Given the description of an element on the screen output the (x, y) to click on. 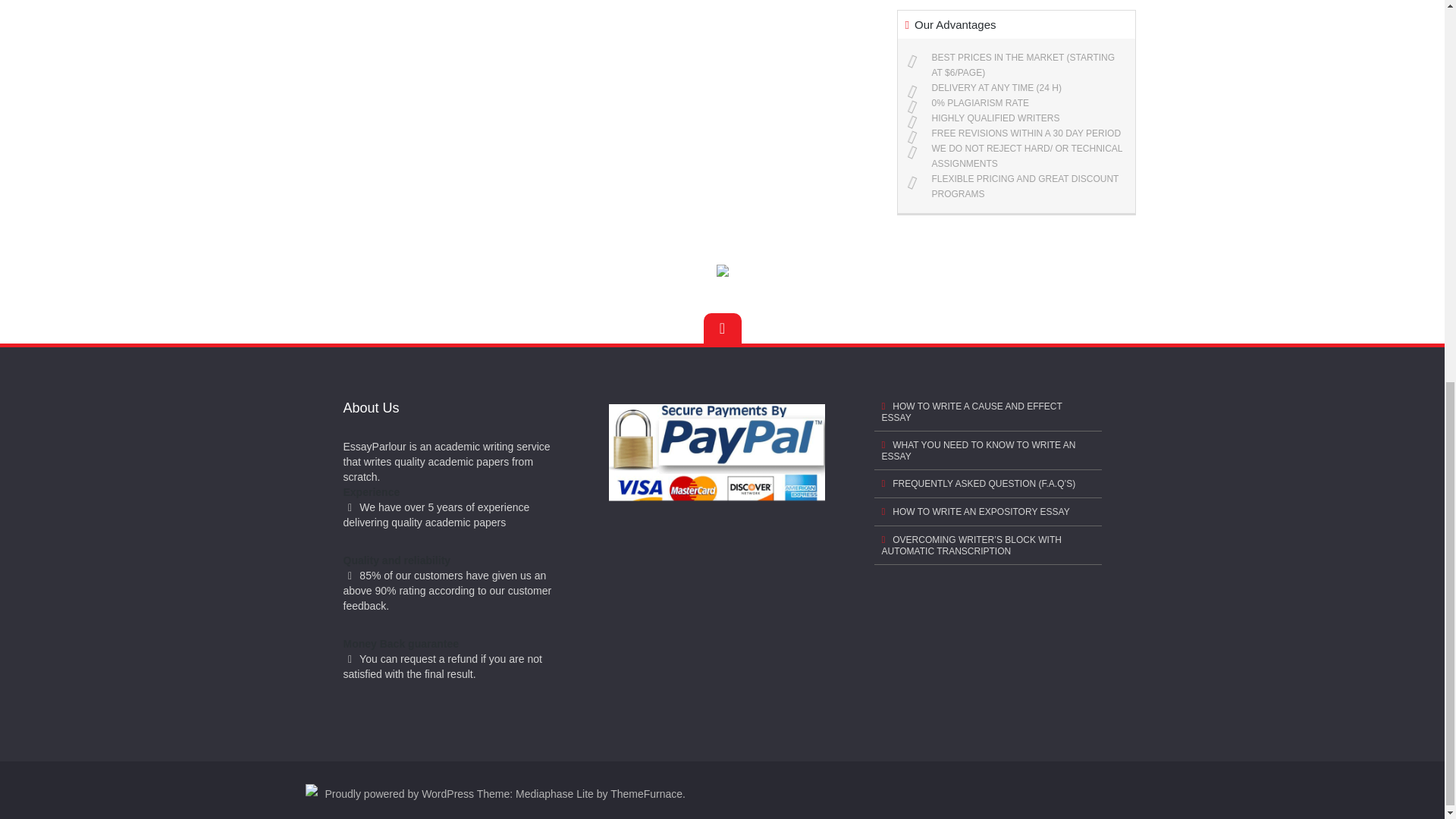
HOW TO WRITE AN EXPOSITORY ESSAY (986, 511)
HOW TO WRITE A CAUSE AND EFFECT ESSAY (986, 412)
ThemeFurnace (646, 793)
Proudly powered by WordPress (399, 793)
WHAT YOU NEED TO KNOW TO WRITE AN ESSAY (986, 450)
